Given the description of an element on the screen output the (x, y) to click on. 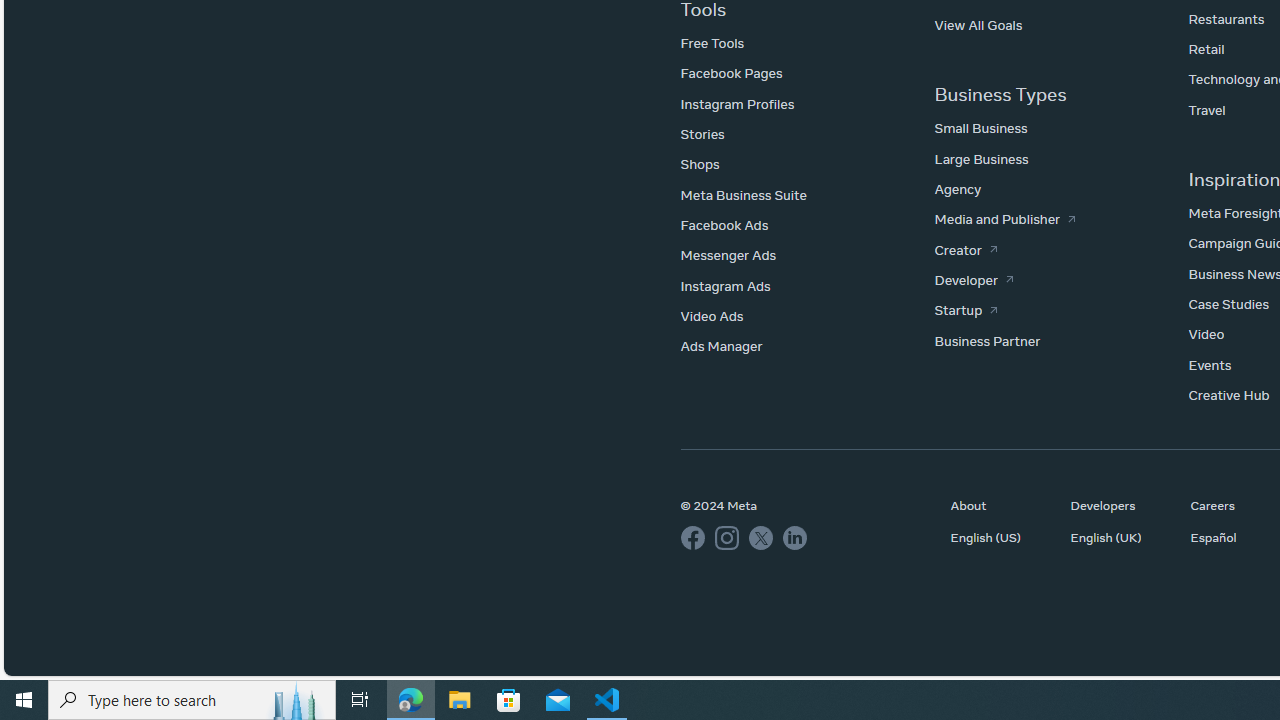
Large Business (981, 158)
Shops (699, 164)
Media and Publisher (1005, 219)
Retail (1205, 48)
View All Goals (978, 24)
Video (1205, 334)
Facebook Ads (724, 225)
Messenger Ads (727, 255)
Restaurants (1225, 18)
